Given the description of an element on the screen output the (x, y) to click on. 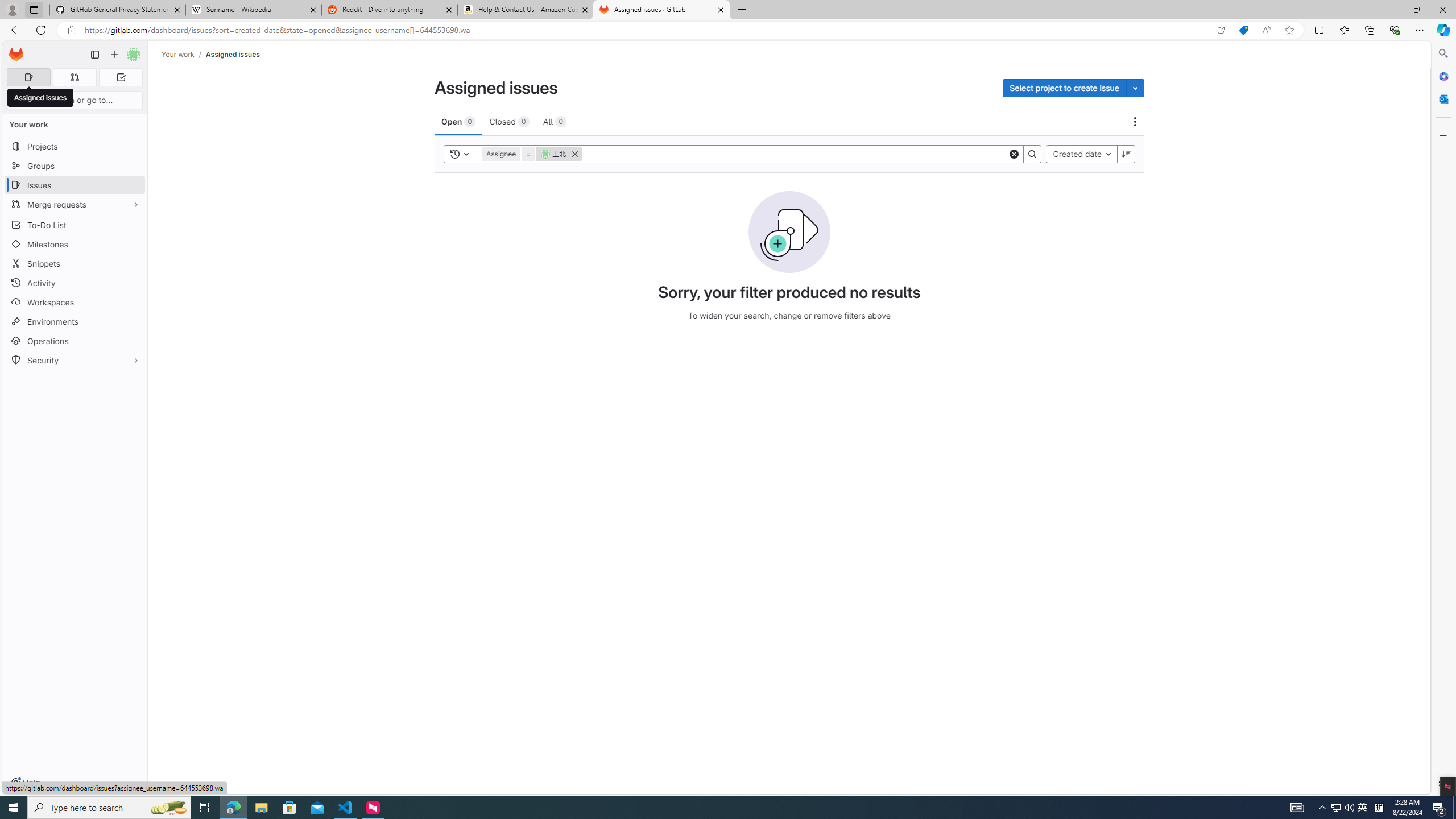
avatar (545, 153)
Projects (74, 145)
To-Do List (74, 224)
Help & Contact Us - Amazon Customer Service (525, 9)
Milestones (74, 244)
Activity (74, 282)
Assigned issues (40, 97)
Merge requests (74, 203)
Reddit - Dive into anything (390, 9)
